Given the description of an element on the screen output the (x, y) to click on. 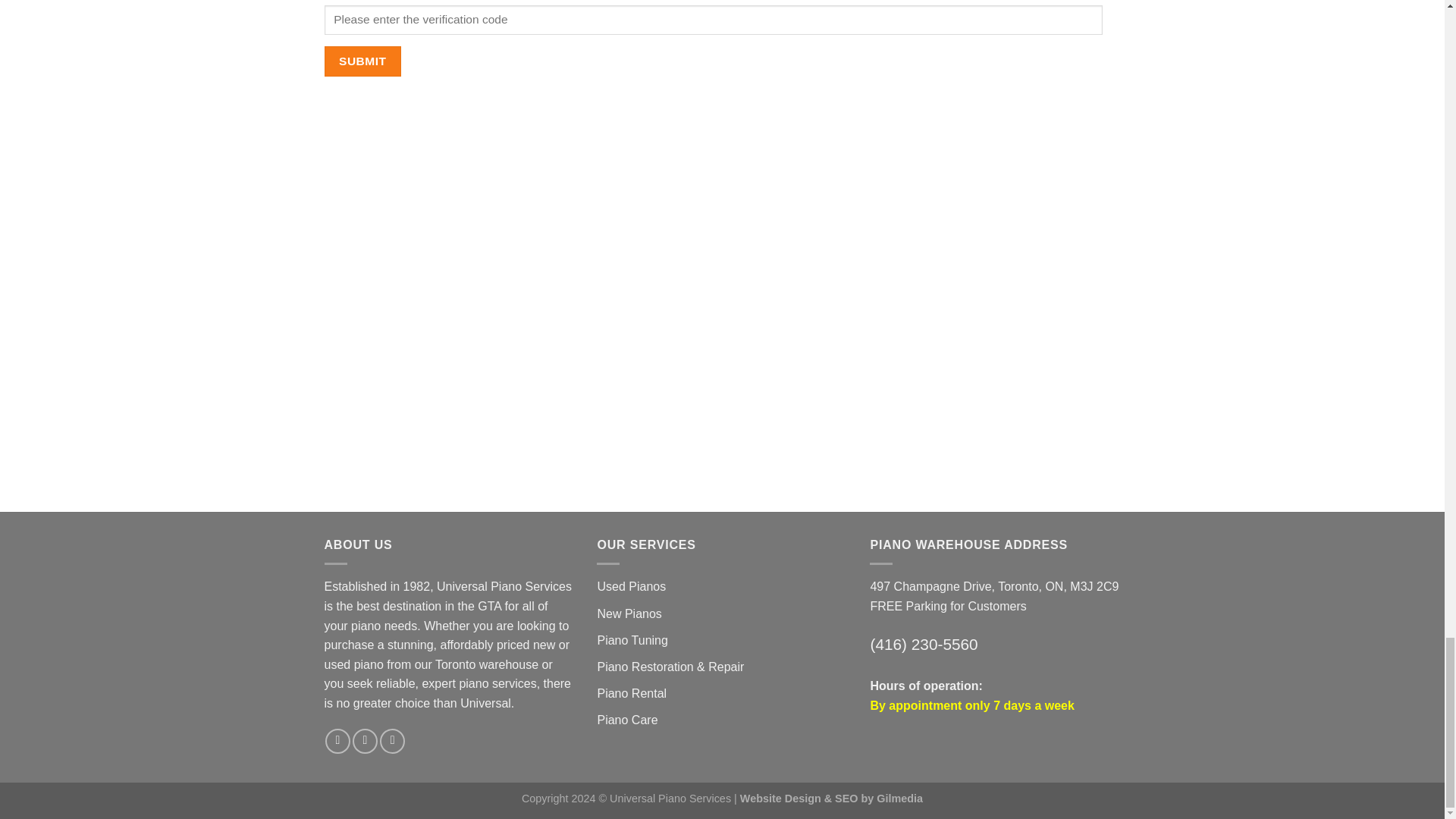
Submit (362, 60)
